Given the description of an element on the screen output the (x, y) to click on. 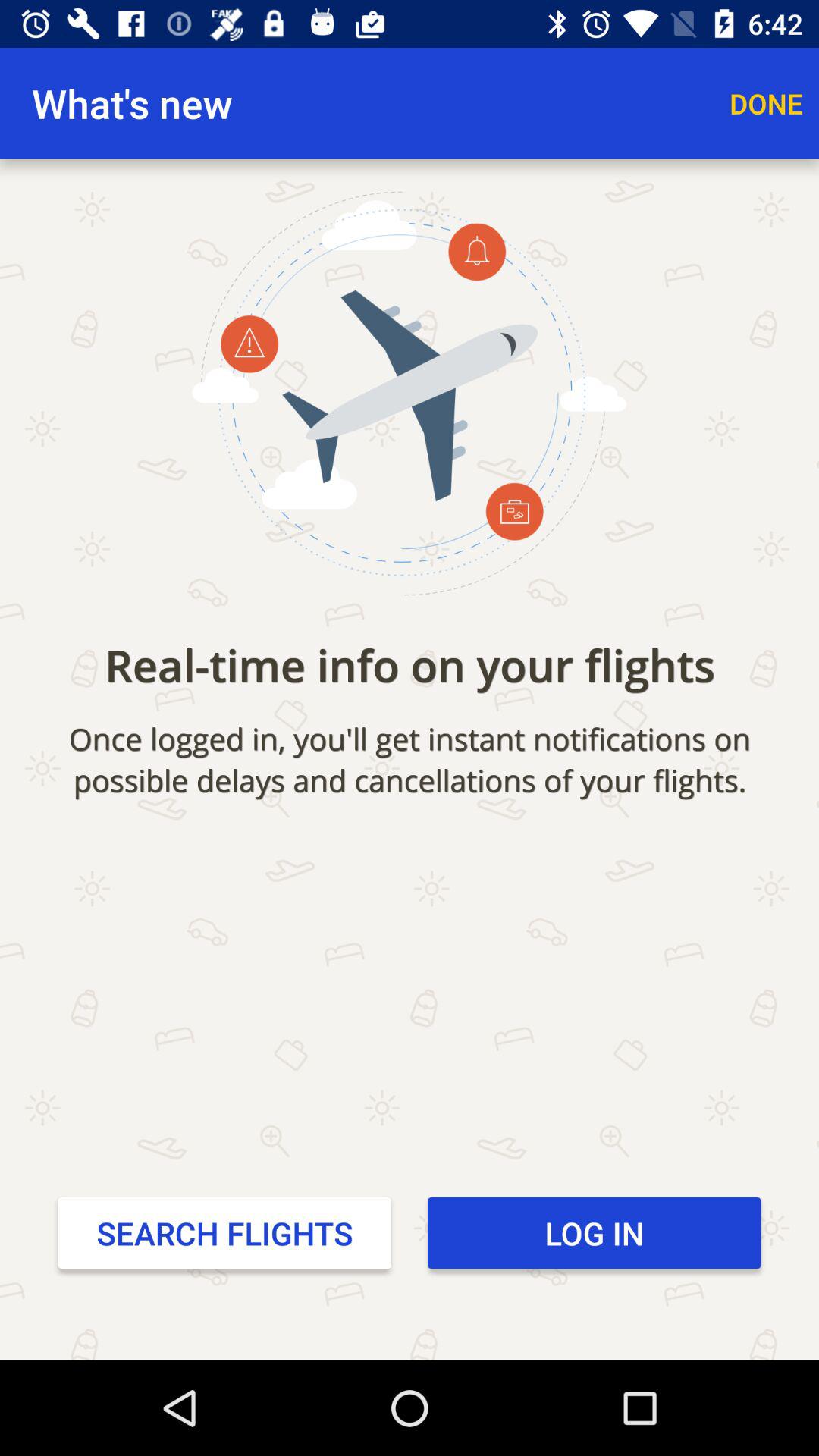
turn on item above the real time info icon (766, 103)
